Given the description of an element on the screen output the (x, y) to click on. 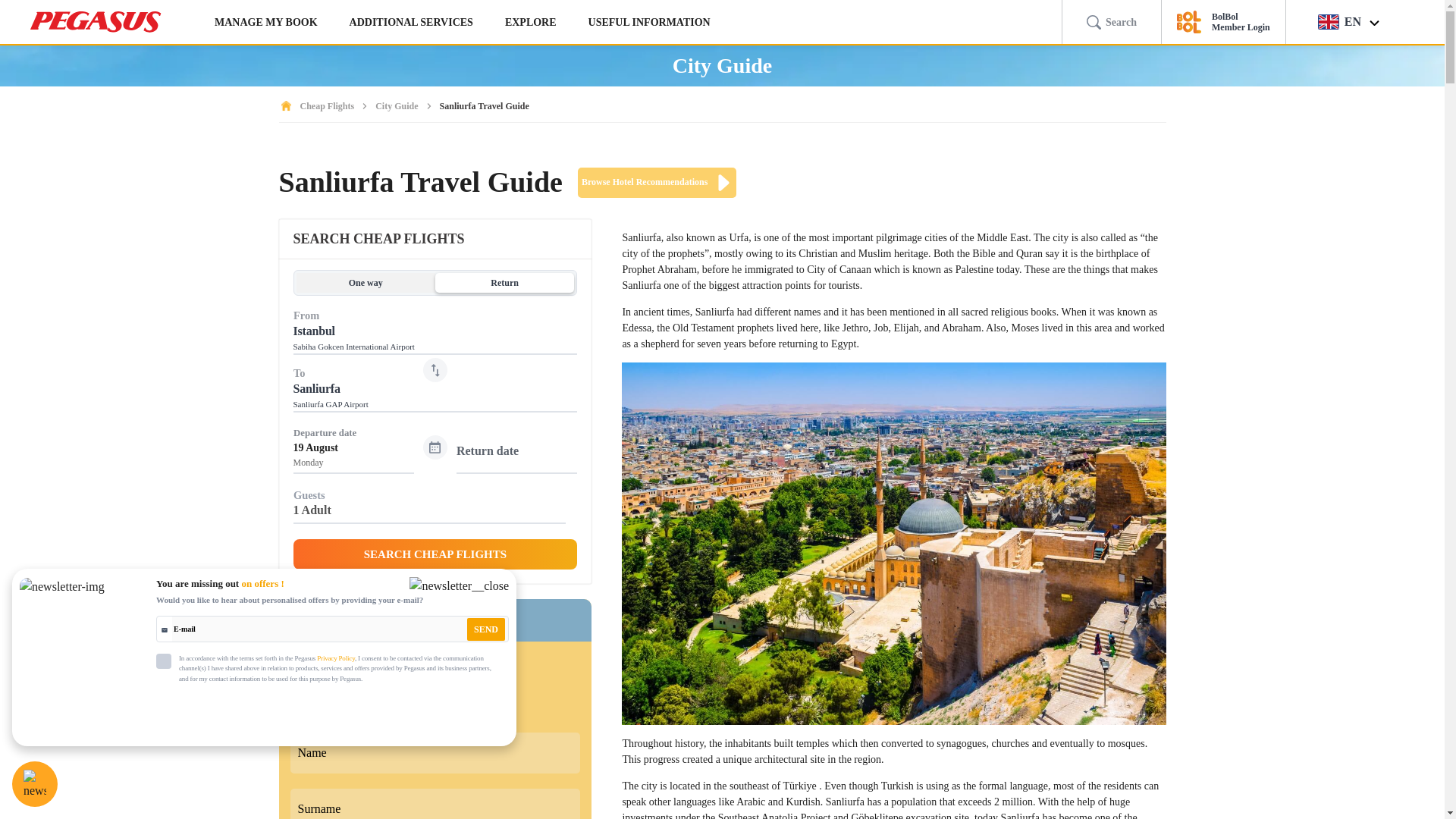
Pegasus (95, 21)
on (163, 661)
ADDITIONAL SERVICES (411, 22)
EXPLORE (530, 22)
MANAGE MY BOOK (265, 22)
19 August Monday (516, 462)
USEFUL INFORMATION (648, 22)
1 Adult (429, 512)
